Given the description of an element on the screen output the (x, y) to click on. 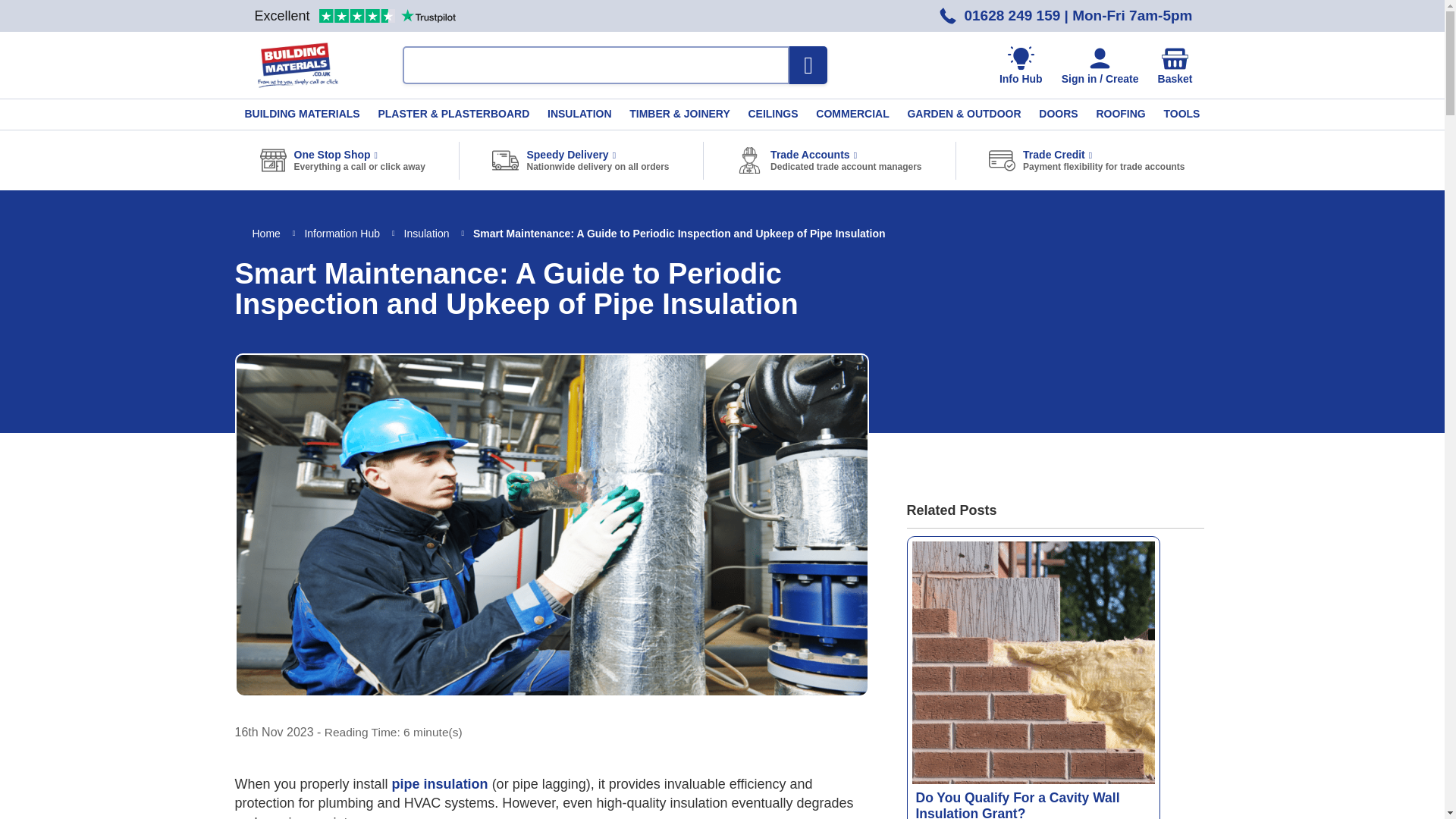
Go to Home Page (266, 233)
Customer reviews powered by Trustpilot (354, 15)
Info Hub (1020, 65)
Search (808, 64)
Building Materials Nationwide (296, 64)
Go to Information Hub Page (343, 233)
Search (808, 64)
BUILDING MATERIALS (300, 114)
Insulation (428, 233)
